Given the description of an element on the screen output the (x, y) to click on. 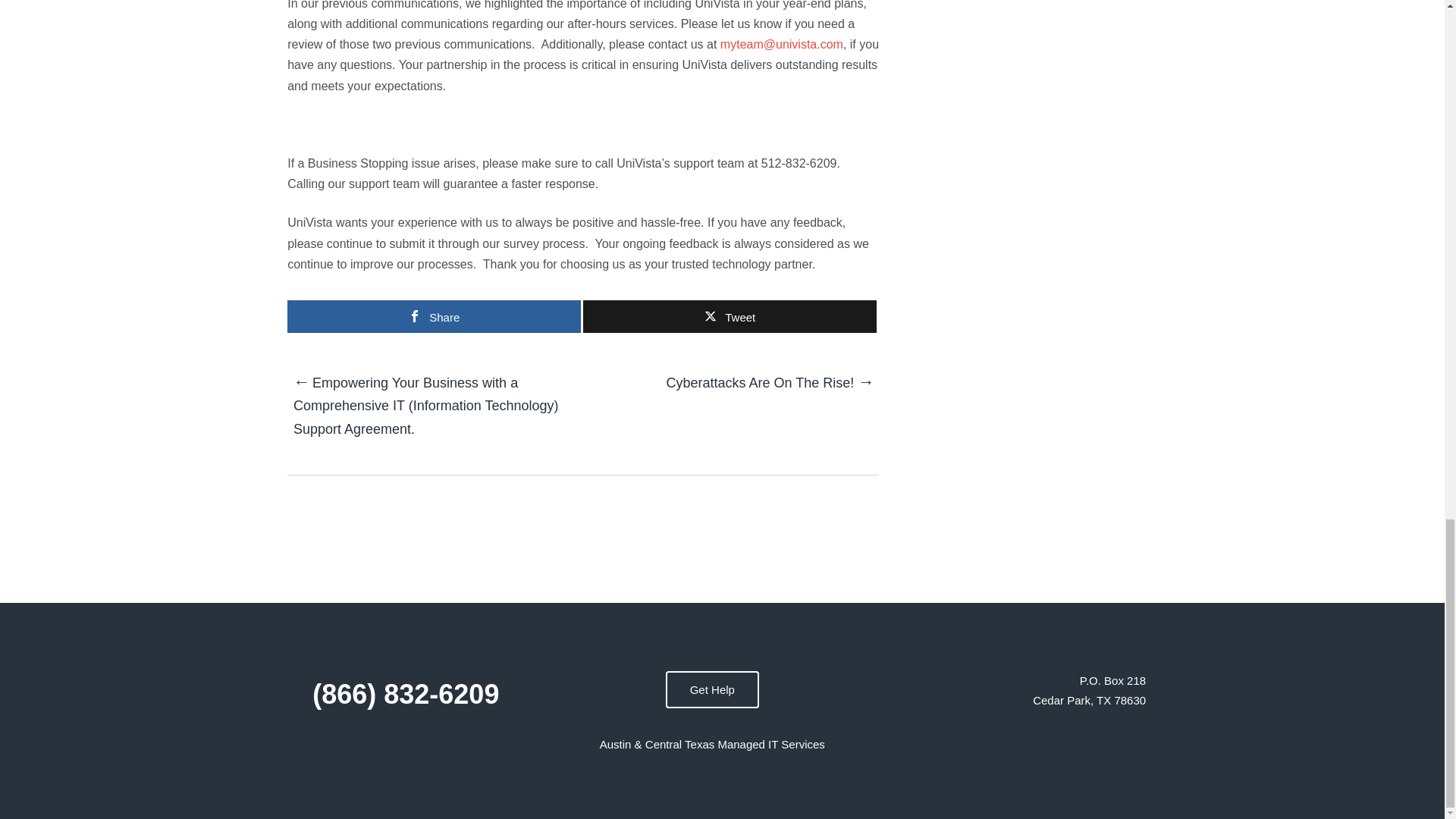
Share (433, 316)
Tweet (729, 316)
Get Help (711, 689)
